Given the description of an element on the screen output the (x, y) to click on. 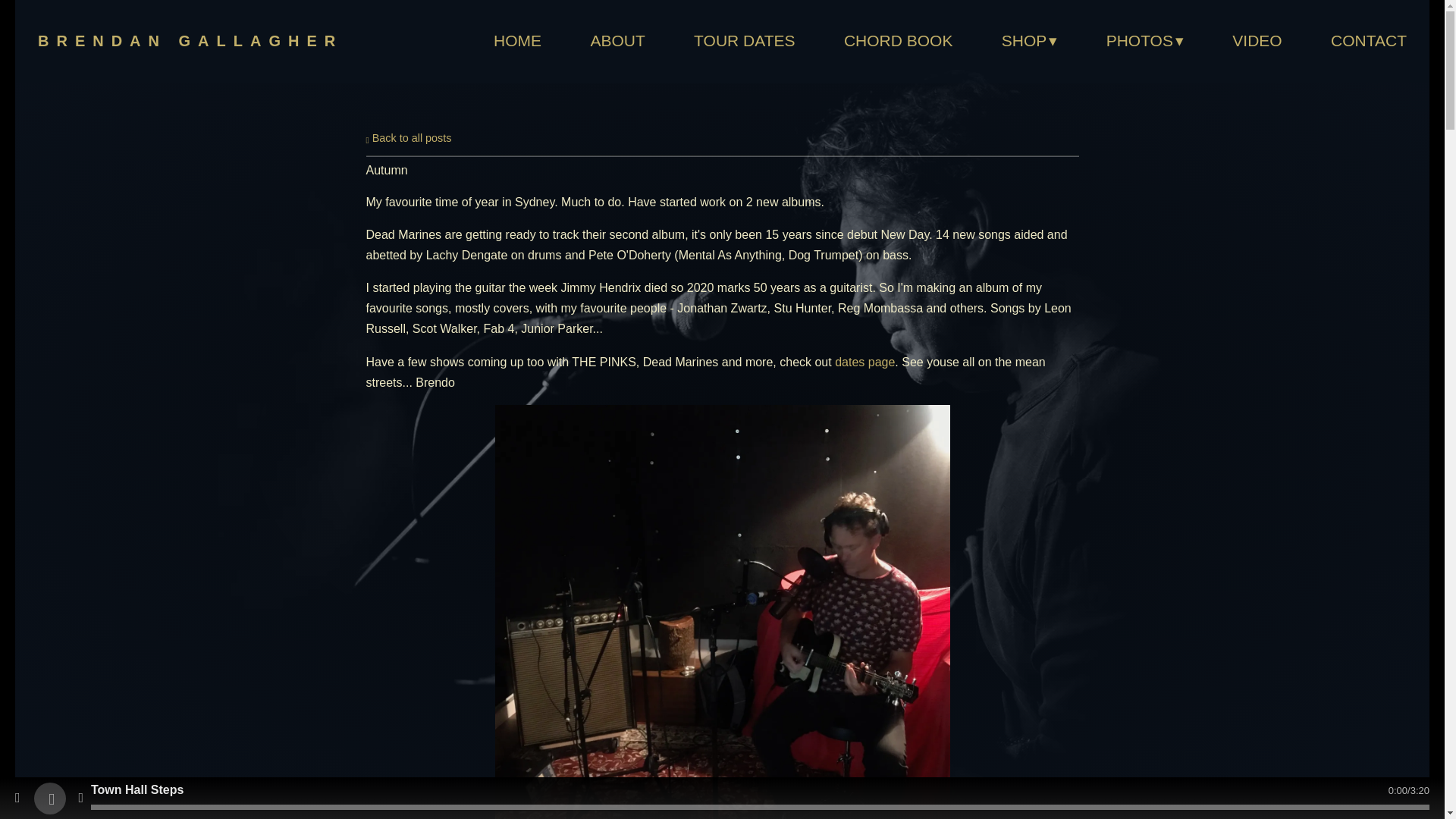
CONTACT (1368, 42)
TOUR DATES (744, 42)
CHORD BOOK (898, 42)
ABOUT (617, 42)
BRENDAN GALLAGHER (189, 39)
dates page (864, 361)
HOME (517, 42)
PHOTOS (1144, 42)
Back to all posts (408, 137)
SHOP (1029, 42)
